Given the description of an element on the screen output the (x, y) to click on. 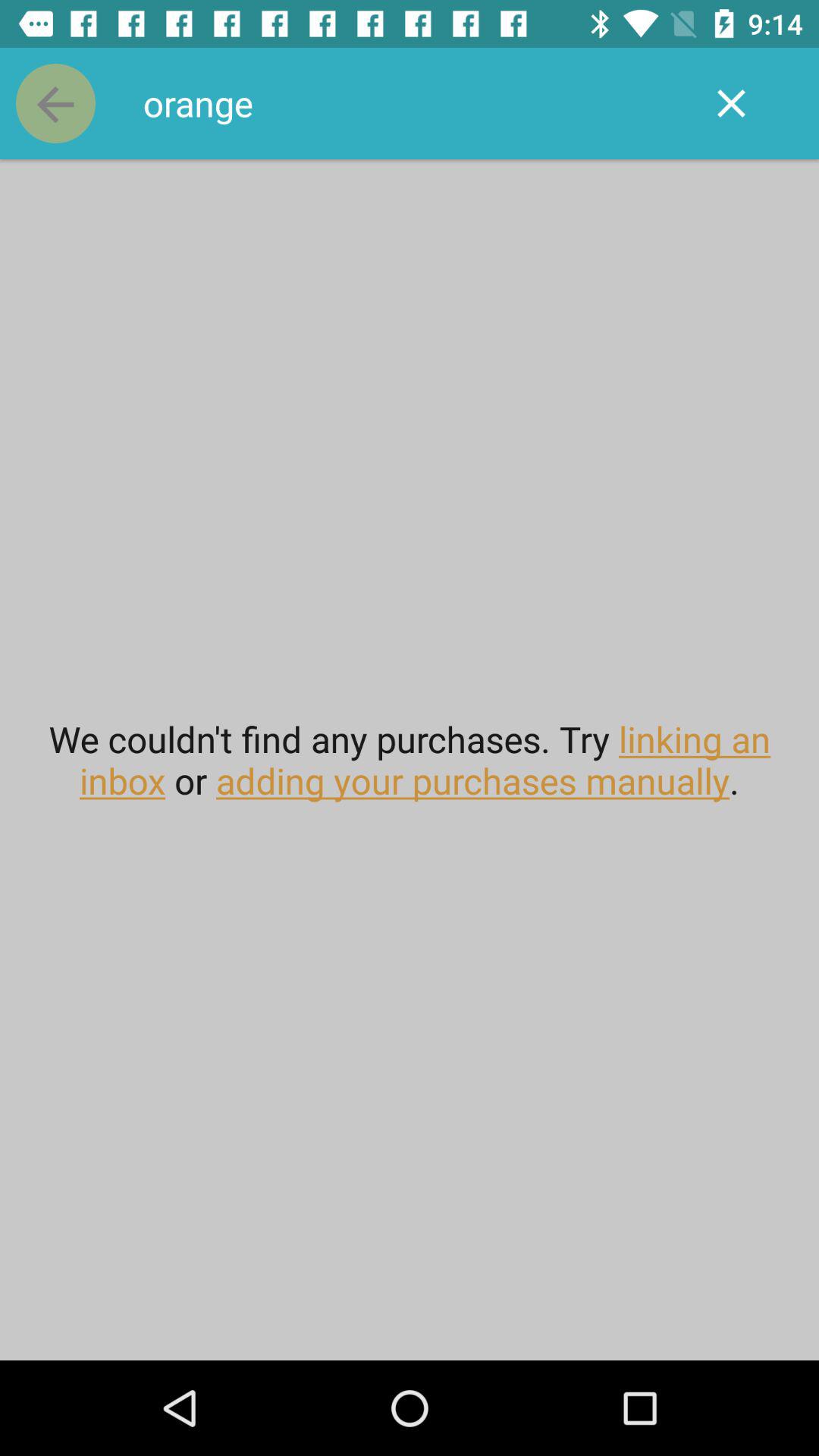
choose the we couldn t at the center (409, 759)
